Given the description of an element on the screen output the (x, y) to click on. 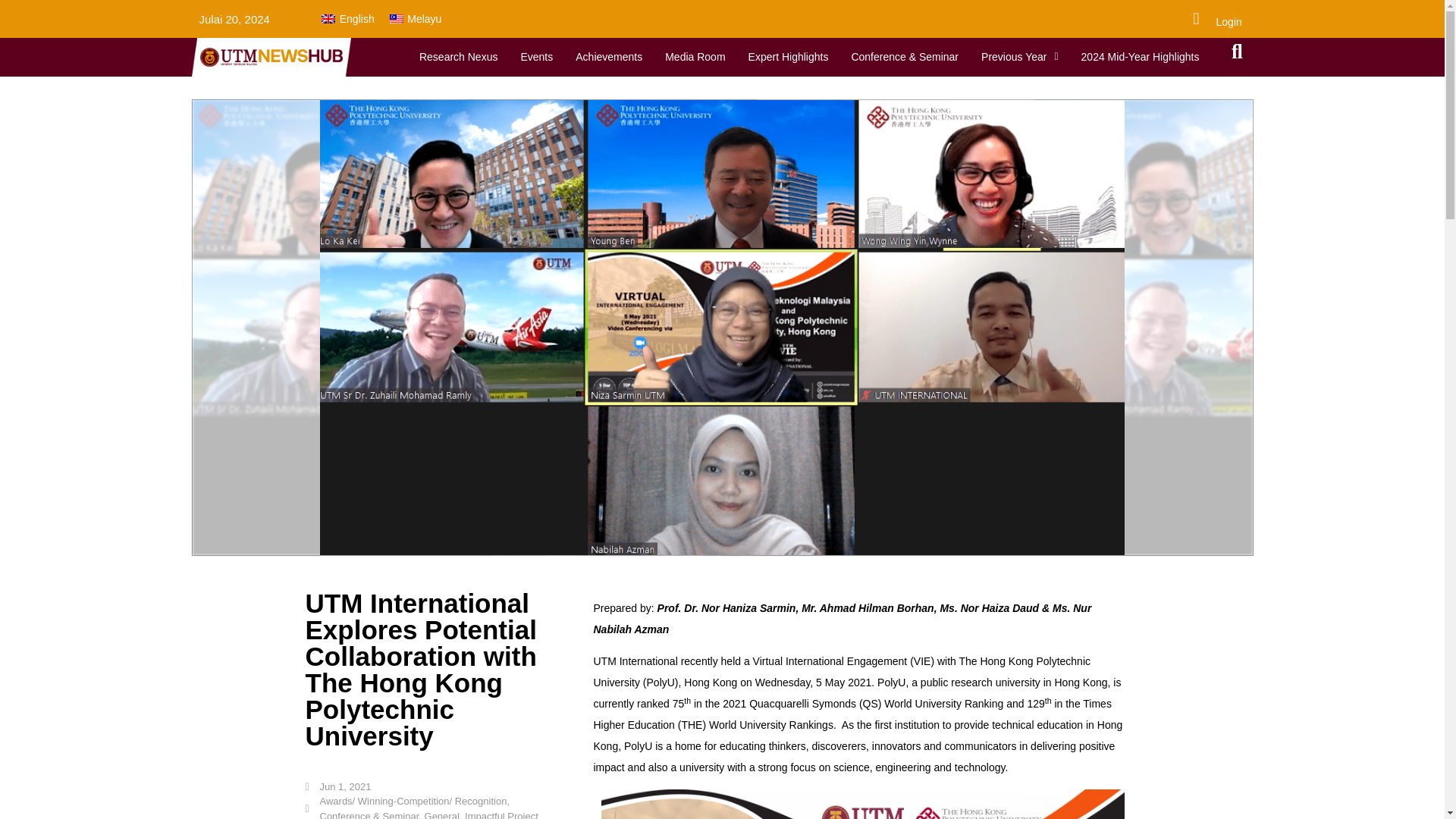
Melayu (415, 18)
Previous Year (1019, 56)
Achievements (608, 56)
Media Room (694, 56)
General (442, 814)
Research Nexus (458, 56)
Events (536, 56)
English (347, 18)
Login (1228, 21)
2024 Mid-Year Highlights (1140, 56)
Jun 1, 2021 (337, 786)
Expert Highlights (788, 56)
Impactful Project (501, 814)
